Given the description of an element on the screen output the (x, y) to click on. 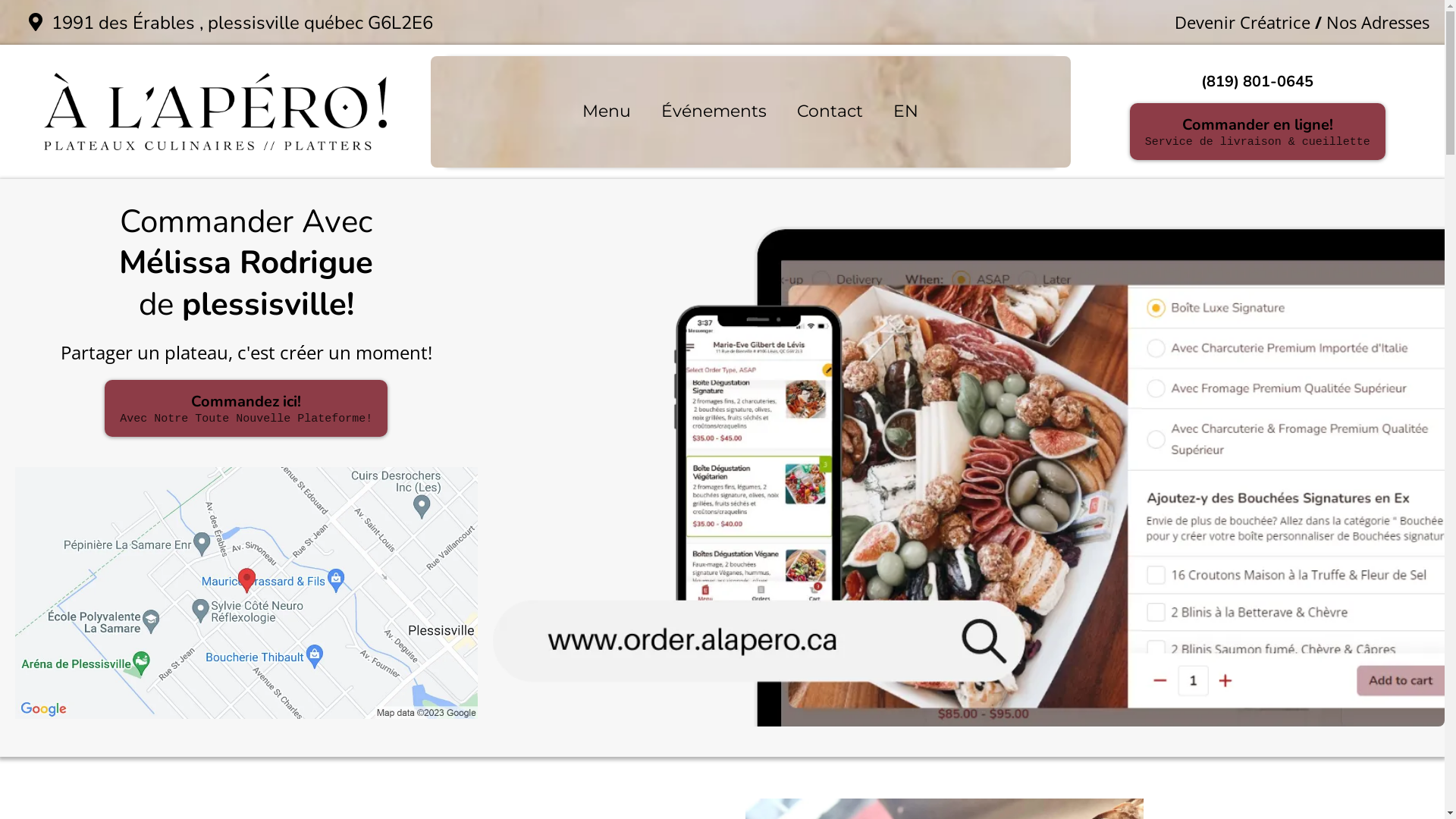
EN Element type: text (905, 111)
(819) 801-0645 Element type: text (1257, 81)
Contact Element type: text (829, 111)
Nos Adresses Element type: text (1377, 21)
Commandez ici!
Avec Notre Toute Nouvelle Plateforme! Element type: text (245, 407)
Menu Element type: text (606, 111)
Commander en ligne!
Service de livraison & cueillette Element type: text (1257, 131)
